Given the description of an element on the screen output the (x, y) to click on. 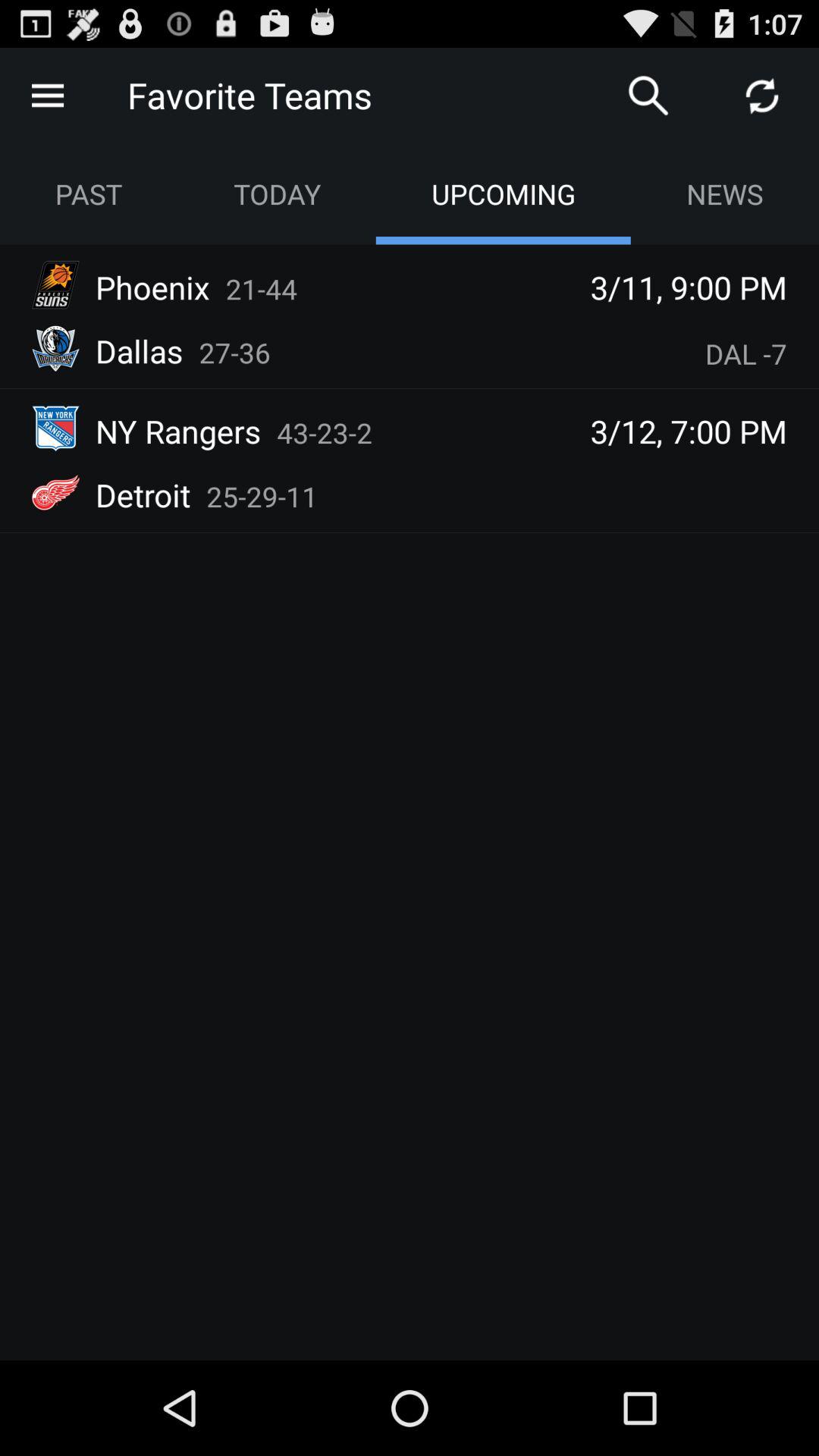
open menu (47, 95)
